Given the description of an element on the screen output the (x, y) to click on. 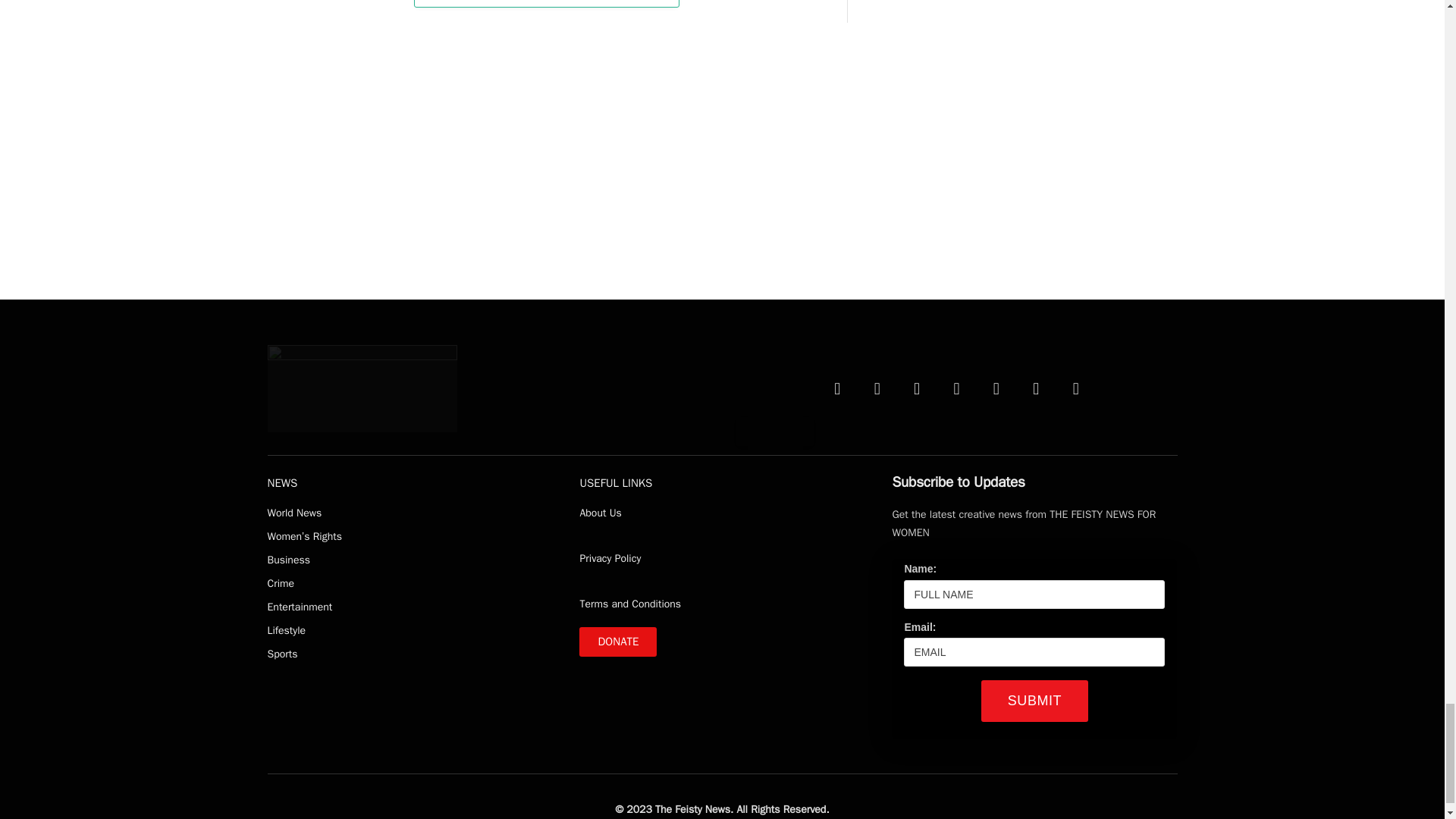
EMAIL (1034, 652)
FULL NAME (1034, 594)
Submit (1034, 700)
